Given the description of an element on the screen output the (x, y) to click on. 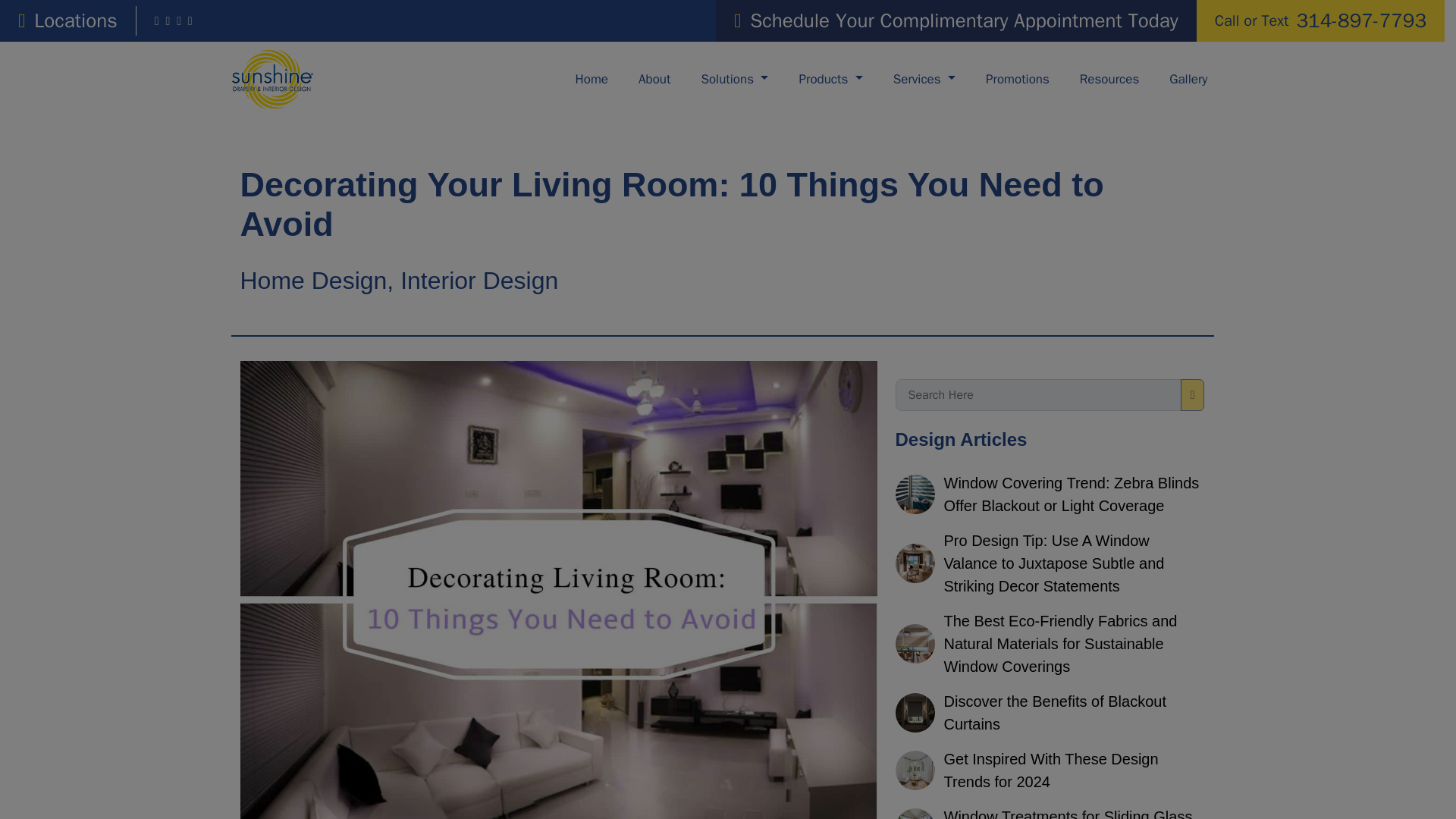
Home (591, 79)
Home Design, Interior Design (398, 280)
Resources (1109, 79)
About (1320, 20)
Services (654, 79)
Locations (923, 79)
Solutions (67, 20)
Gallery (734, 79)
Products (1187, 79)
